Given the description of an element on the screen output the (x, y) to click on. 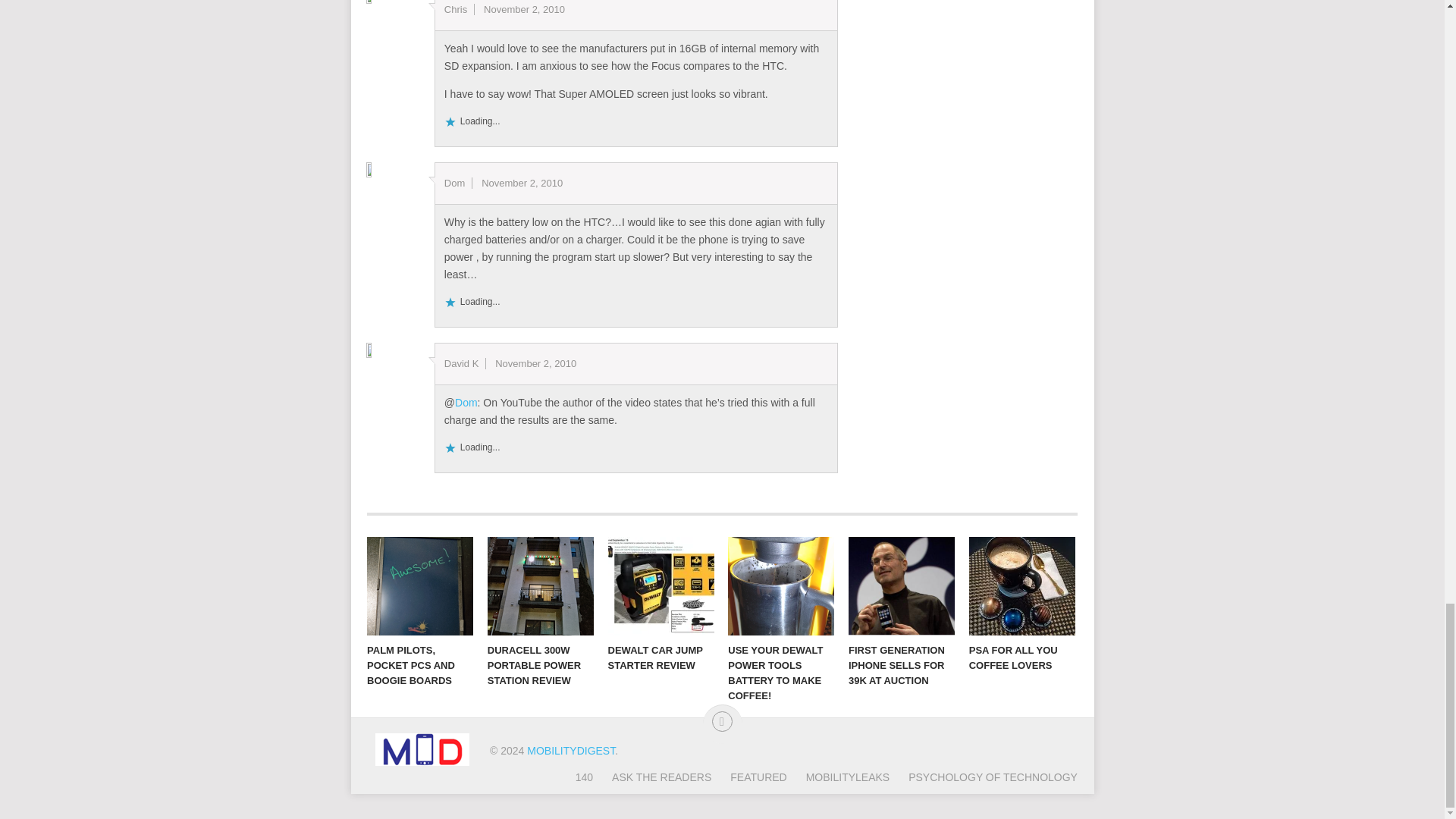
David K (461, 363)
Dom (465, 402)
